Given the description of an element on the screen output the (x, y) to click on. 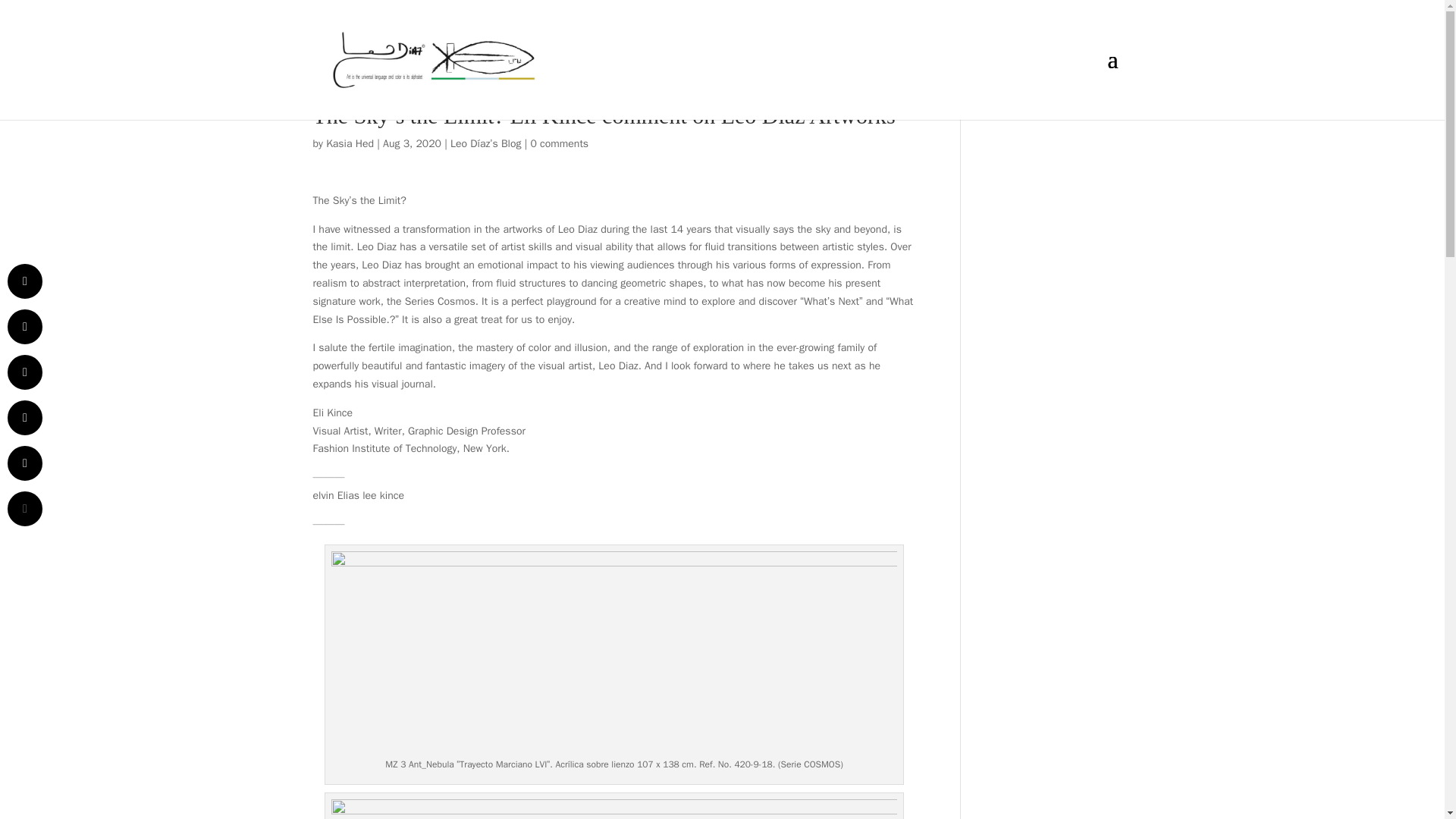
Kasia Hed (350, 143)
Posts by Kasia Hed (350, 143)
0 comments (560, 143)
